Given the description of an element on the screen output the (x, y) to click on. 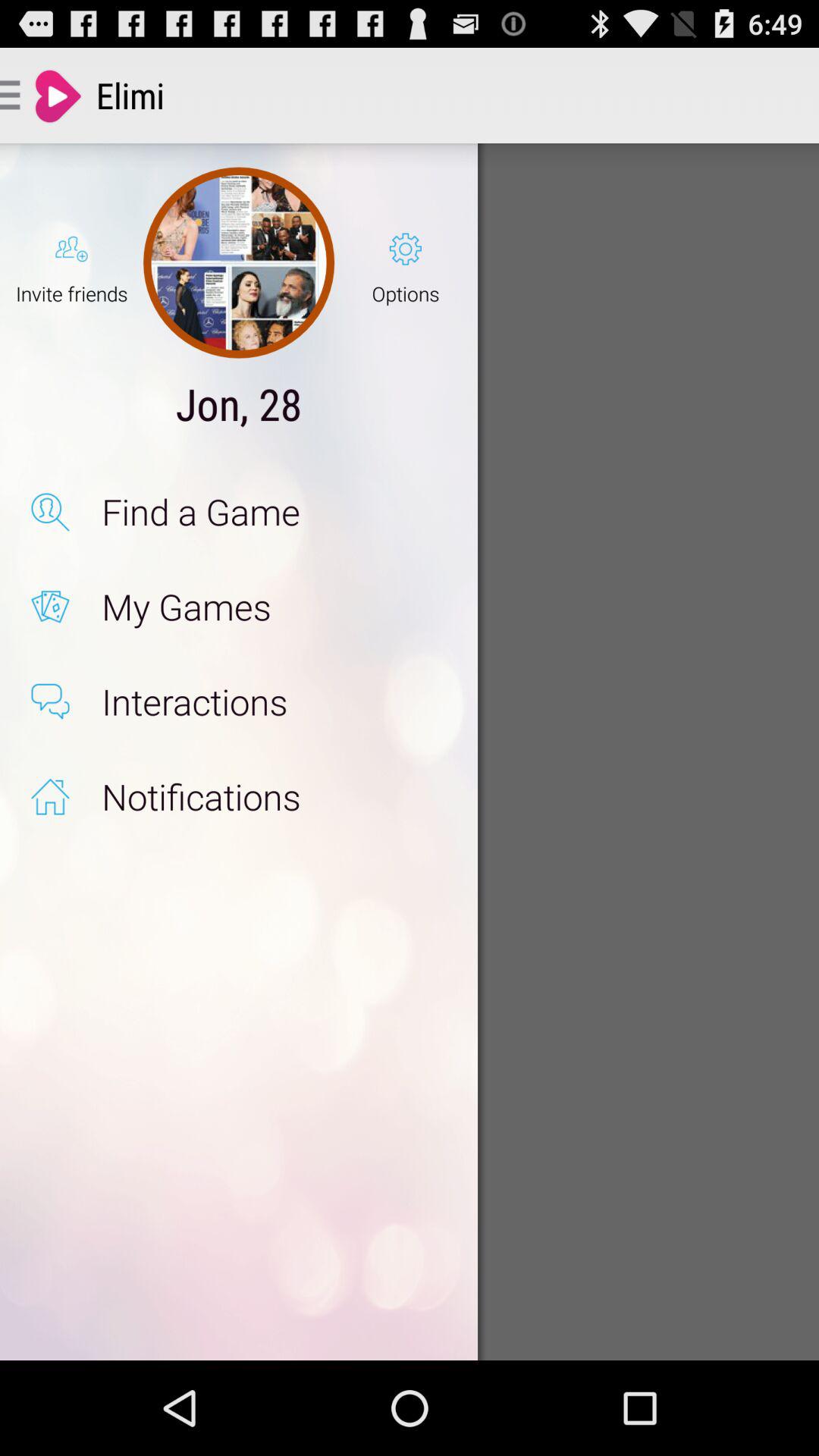
select item next to options item (238, 262)
